Given the description of an element on the screen output the (x, y) to click on. 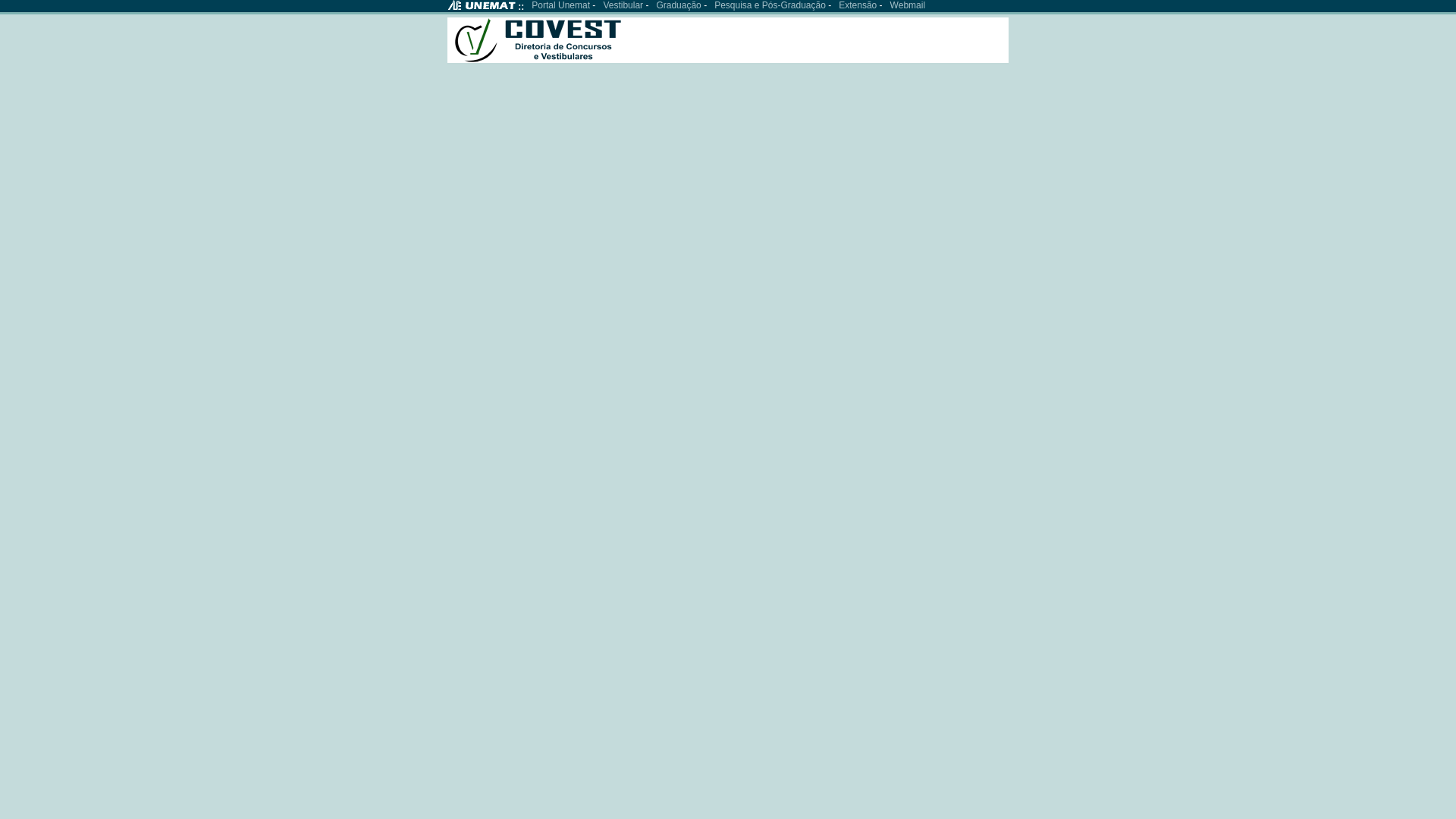
Vestibular Element type: text (622, 5)
Portal Unemat Element type: text (560, 5)
Webmail Element type: text (907, 5)
